Given the description of an element on the screen output the (x, y) to click on. 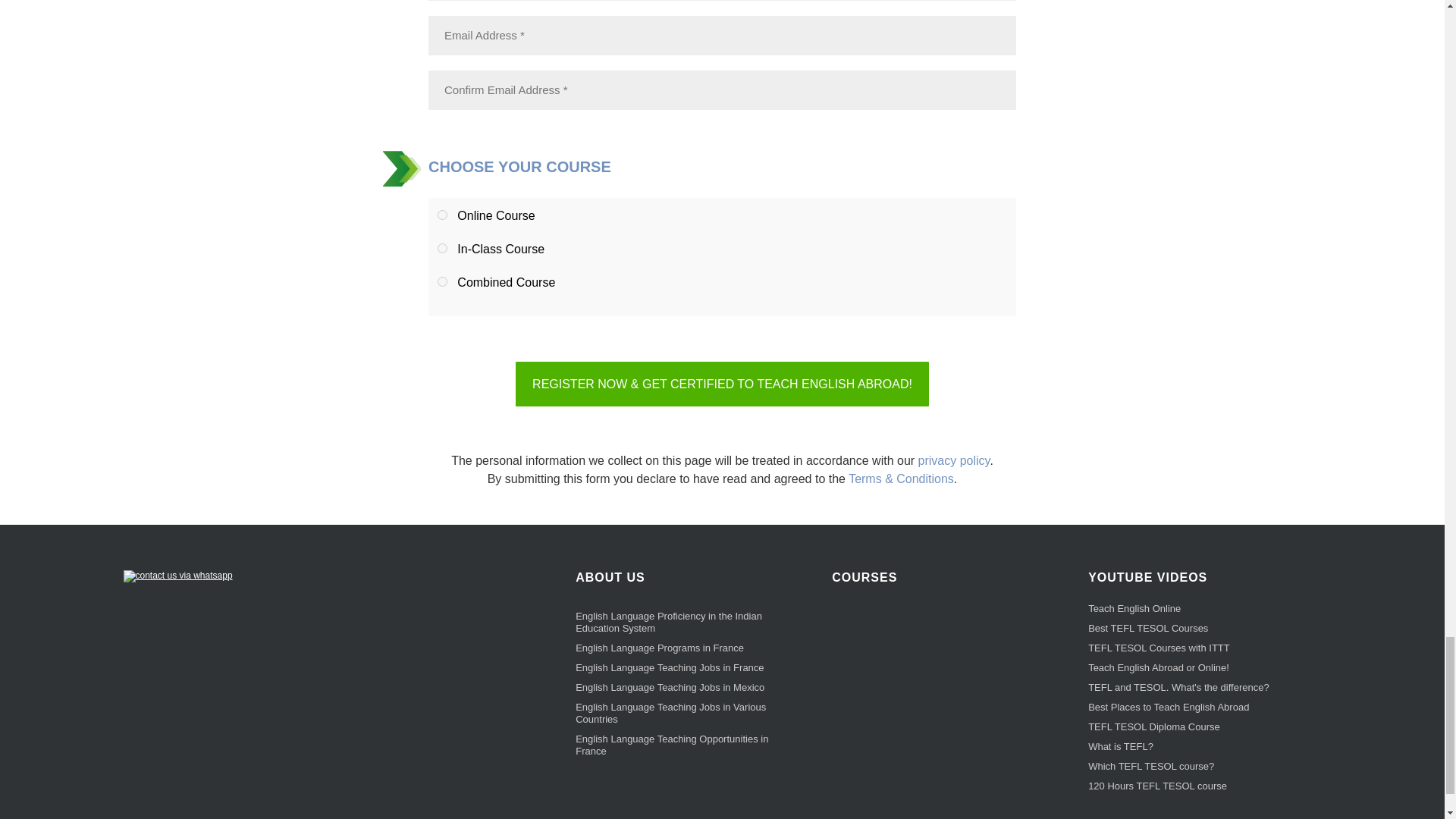
Online Course (442, 214)
Combined Course (442, 281)
Intensive Course (442, 248)
